Given the description of an element on the screen output the (x, y) to click on. 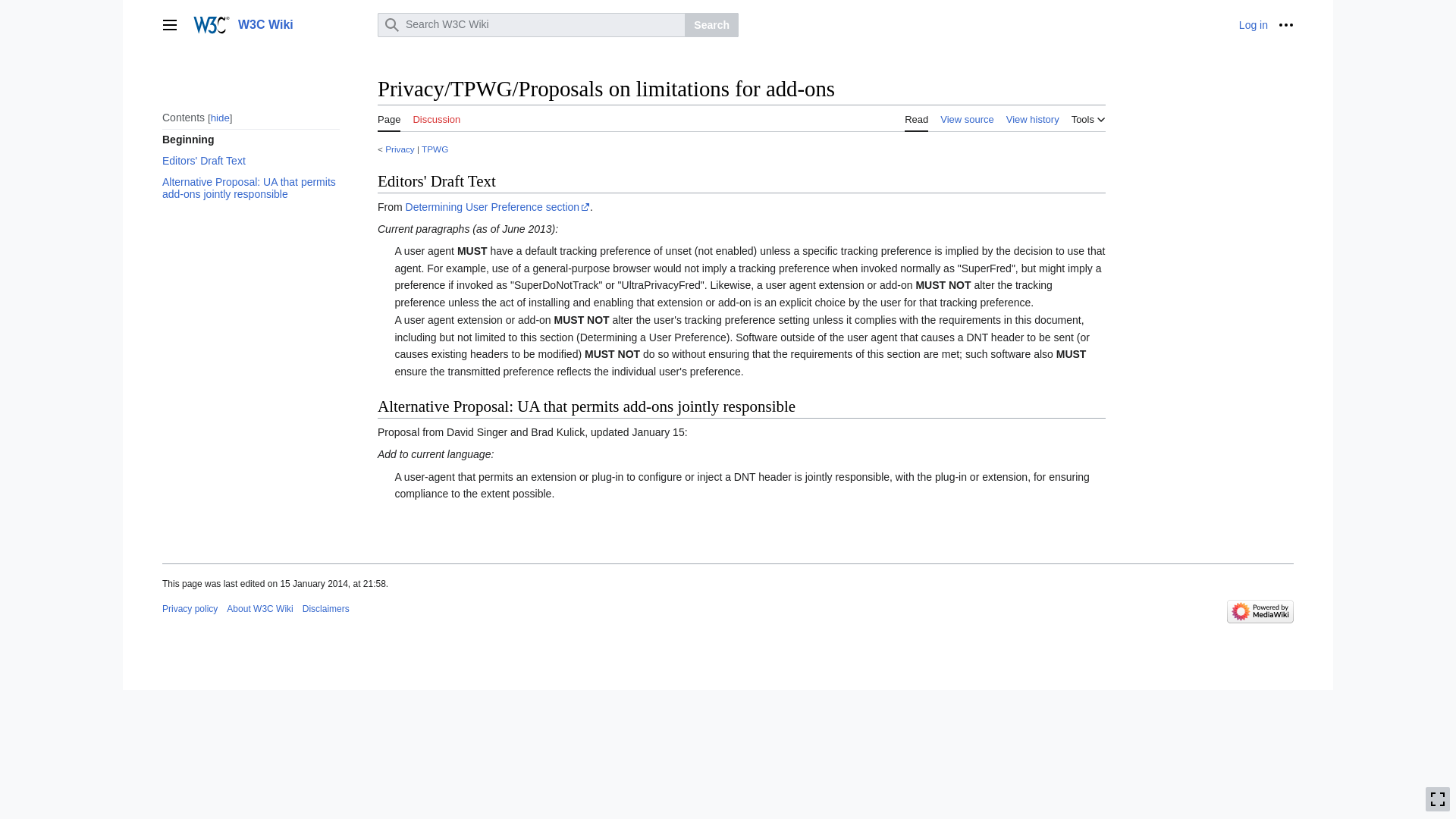
Beginning (250, 138)
Privacy (399, 148)
hide (220, 117)
TPWG (435, 148)
Privacy policy (188, 608)
Determining User Preference section (498, 206)
View history (1032, 117)
More options (1286, 24)
About W3C Wiki (259, 608)
Editors' Draft Text (250, 160)
